Given the description of an element on the screen output the (x, y) to click on. 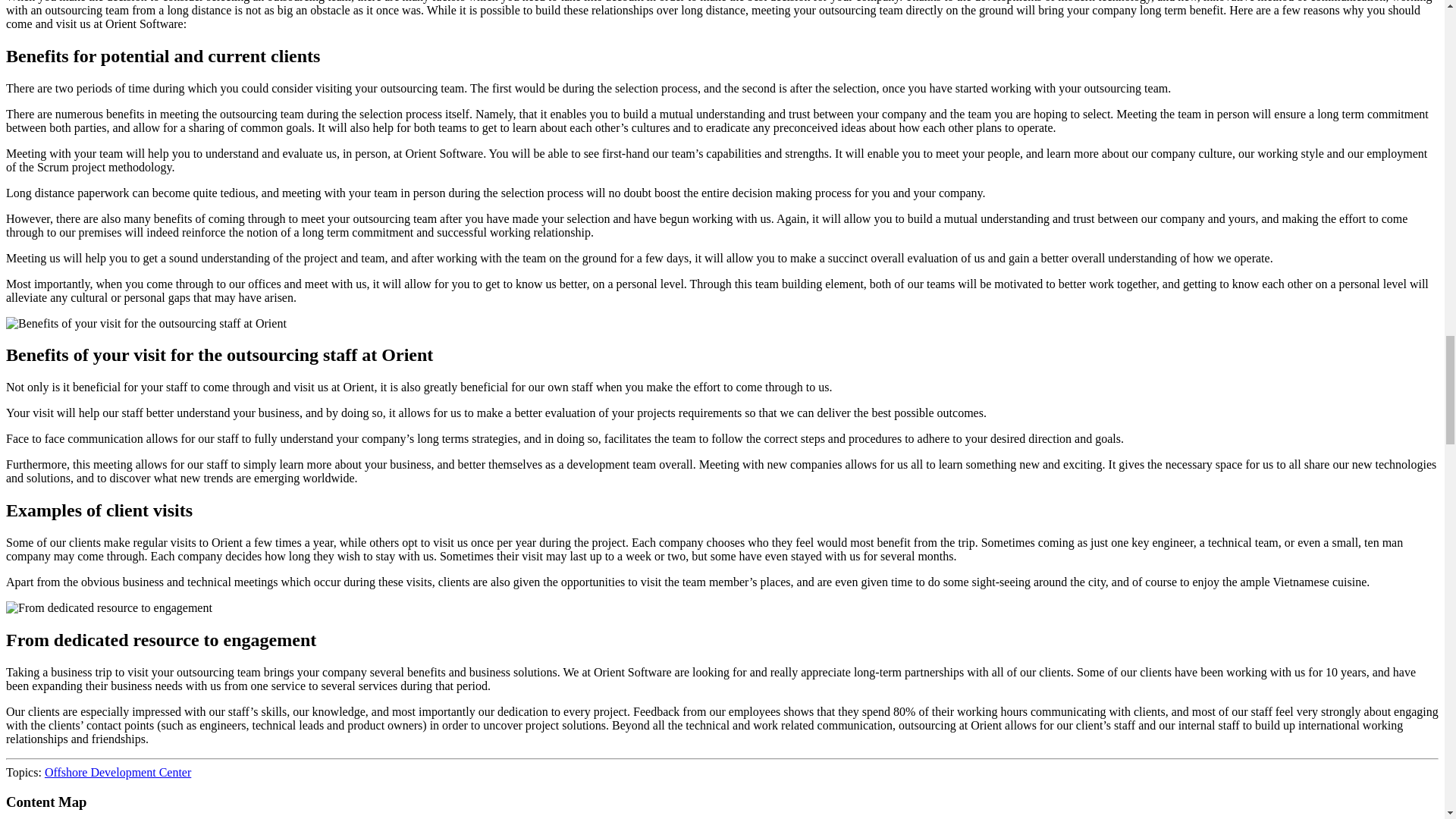
Benefits of your visit for the outsourcing staff at Orient (145, 323)
From dedicated resource to engagement (108, 608)
